Given the description of an element on the screen output the (x, y) to click on. 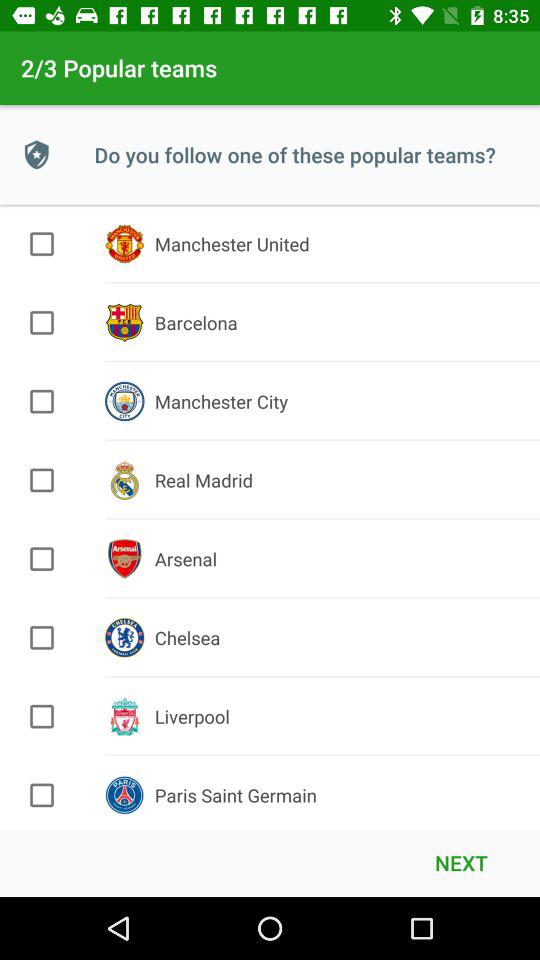
toggle following manchester city (42, 401)
